Given the description of an element on the screen output the (x, y) to click on. 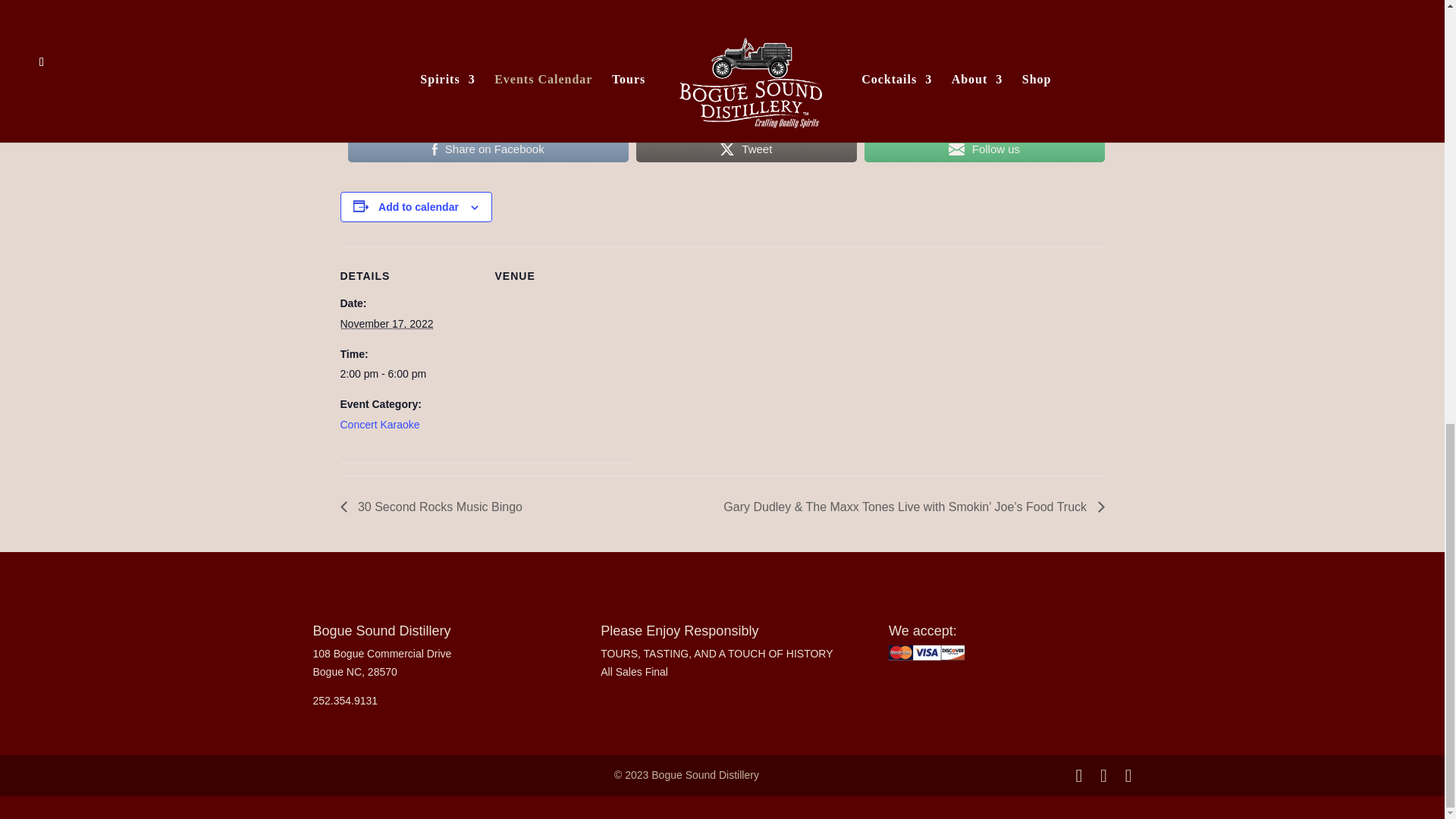
Follow us (984, 149)
Tweet (746, 149)
2022-11-17 (385, 323)
Share on Facebook (487, 149)
2022-11-17 (407, 374)
Add to calendar (418, 206)
